Given the description of an element on the screen output the (x, y) to click on. 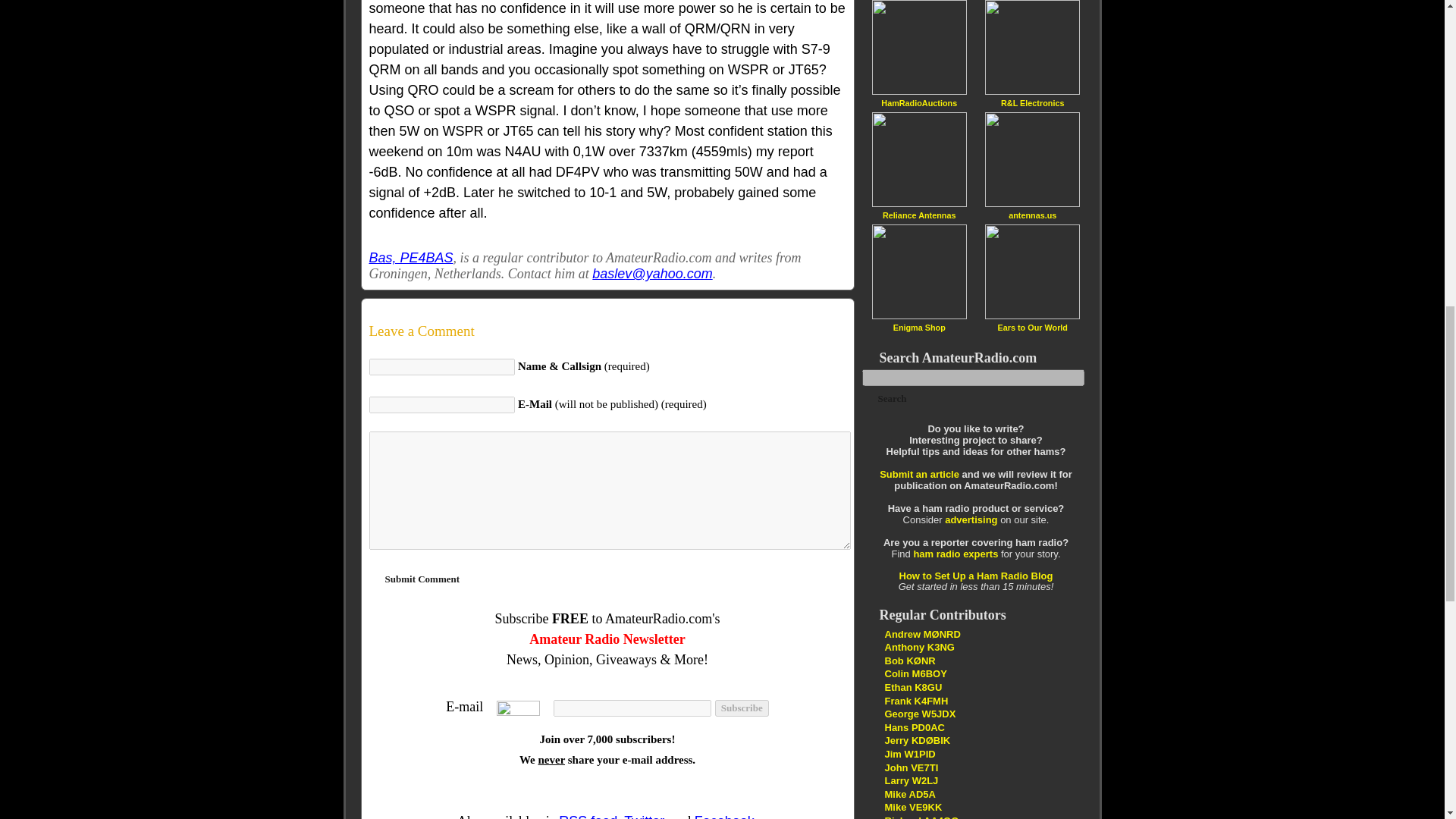
Enigma Shop (918, 326)
Subscribe (741, 708)
Entertain, Encourage, Educate and Inspire (916, 740)
Search (891, 398)
Subscribe (741, 708)
Lower your Power  Raise your Expectations (920, 816)
Thoughts of a Dutch radio amateur (913, 727)
Leave a Comment (606, 331)
MY HAM RADIO EXPERIENCES (908, 794)
Reliance Antennas (918, 214)
